Given the description of an element on the screen output the (x, y) to click on. 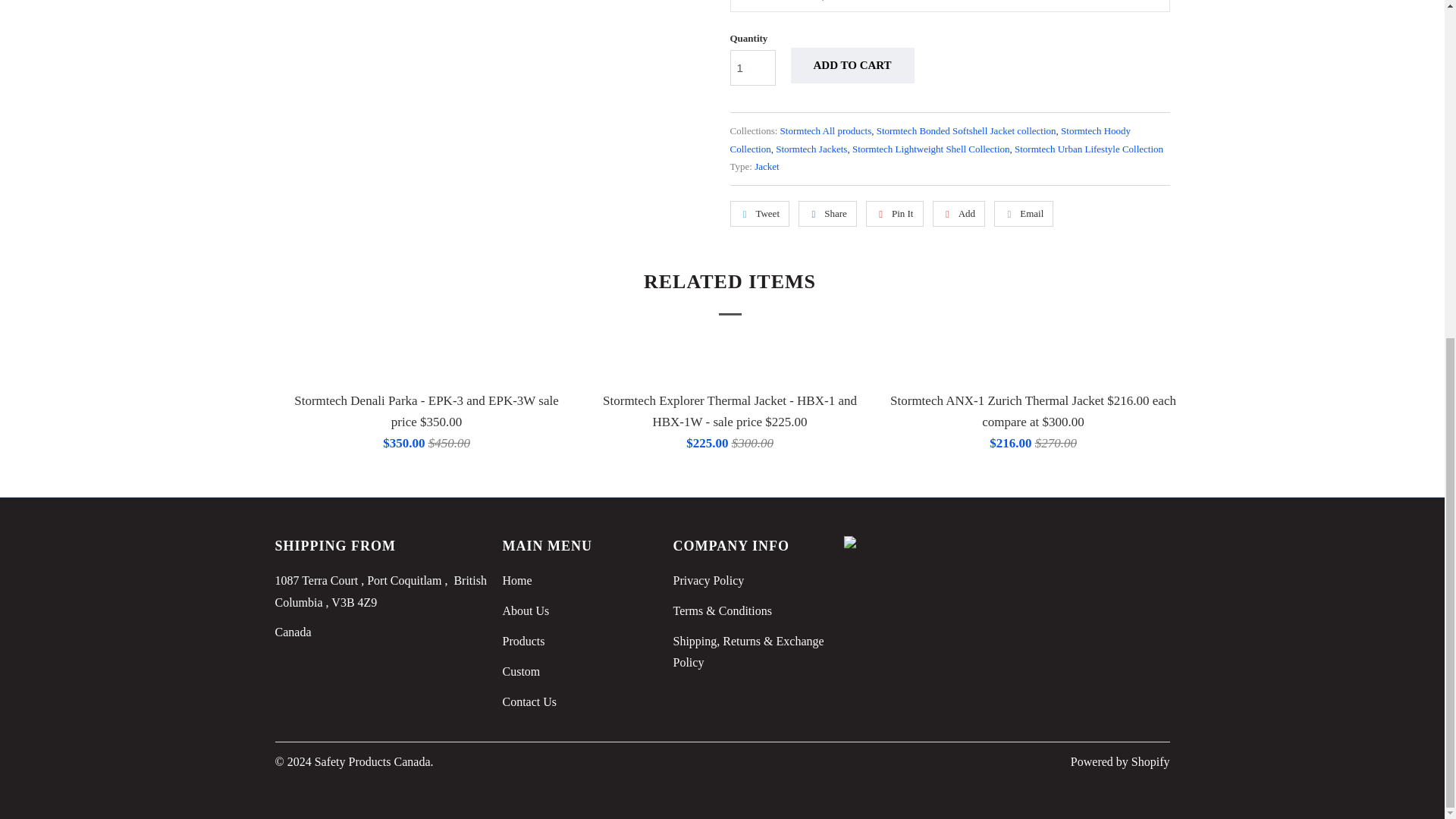
Stormtech Lightweight Shell Collection (930, 148)
About Us (525, 610)
Tweet (759, 213)
Share this on Twitter (759, 213)
Share this on Pinterest (894, 213)
Share this on Facebook (827, 213)
Stormtech Jackets (811, 148)
Pin It (894, 213)
Stormtech Lightweight Shell Collection (930, 148)
Jacket (766, 165)
